Given the description of an element on the screen output the (x, y) to click on. 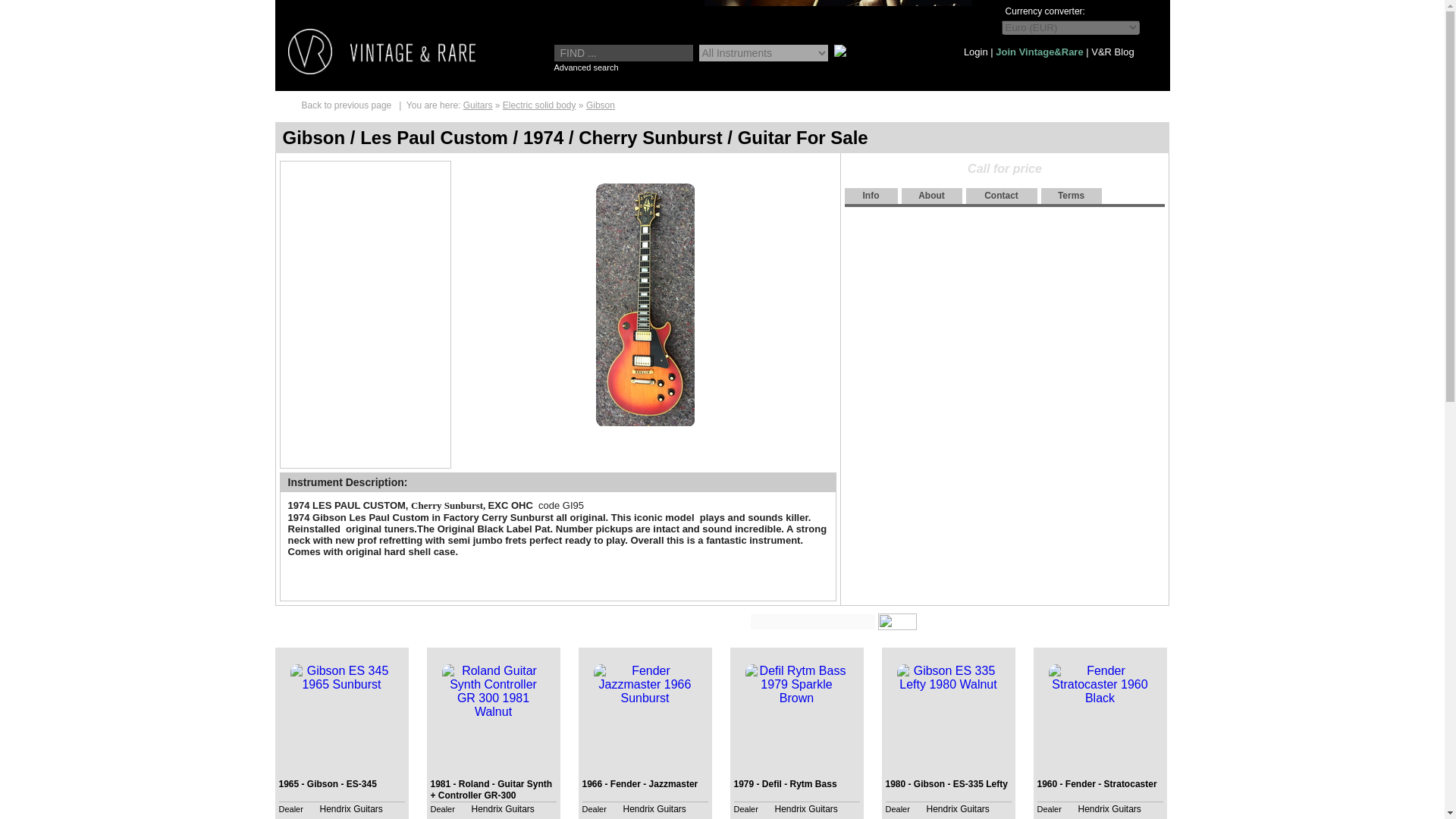
gibson-Les Paul Custom-1974-Cherry Sunburst (322, 210)
scroll up (365, 169)
Back to previous page (346, 104)
4 (406, 279)
8 (406, 415)
6 (406, 347)
2 (406, 210)
Advanced search (585, 67)
gibson-Les Paul Custom-1974-Cherry Sunburst (406, 347)
Gibson (600, 104)
